Given the description of an element on the screen output the (x, y) to click on. 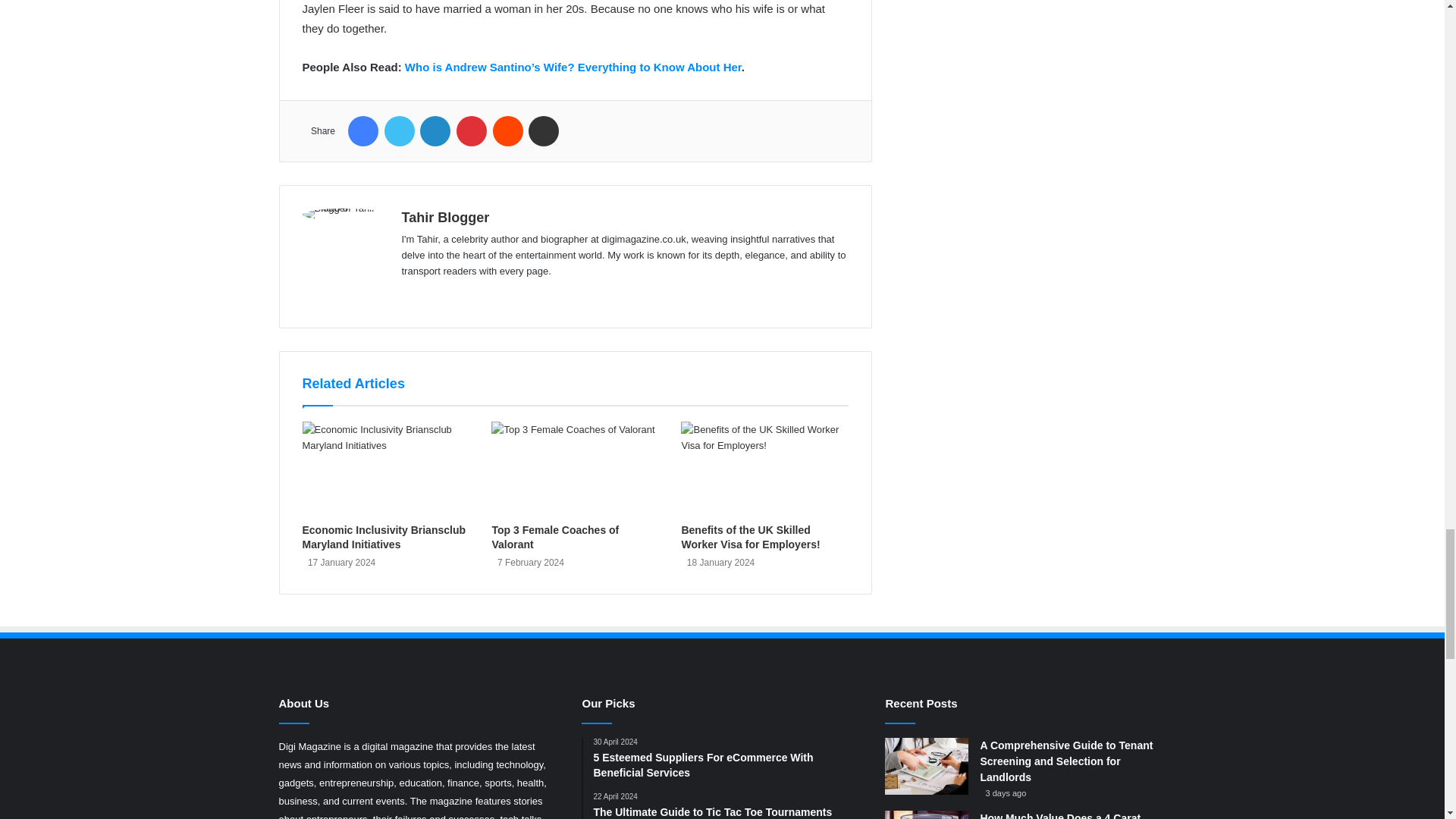
Facebook (362, 131)
Twitter (399, 131)
LinkedIn (434, 131)
